Given the description of an element on the screen output the (x, y) to click on. 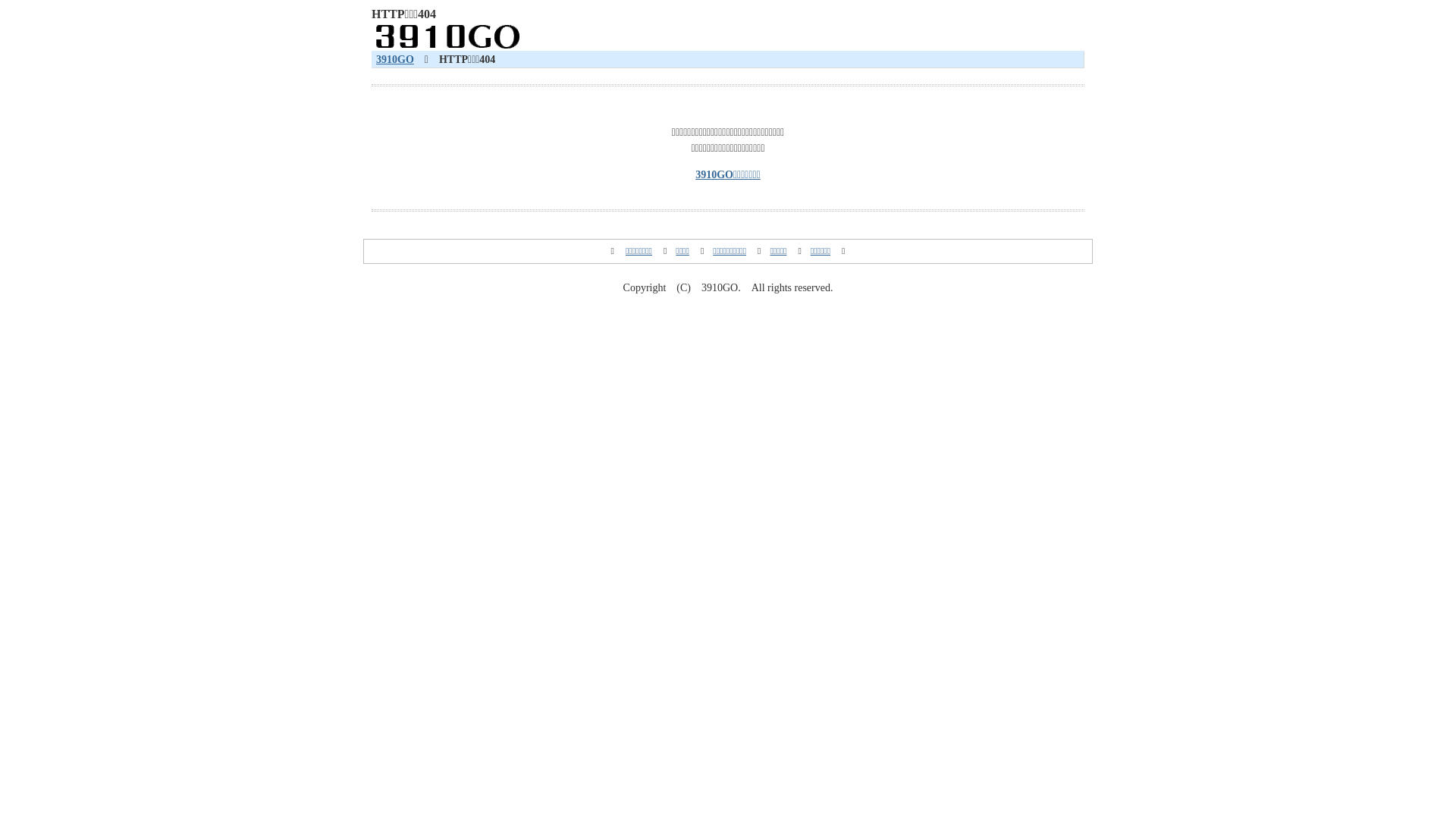
3910GO Element type: text (395, 59)
